Given the description of an element on the screen output the (x, y) to click on. 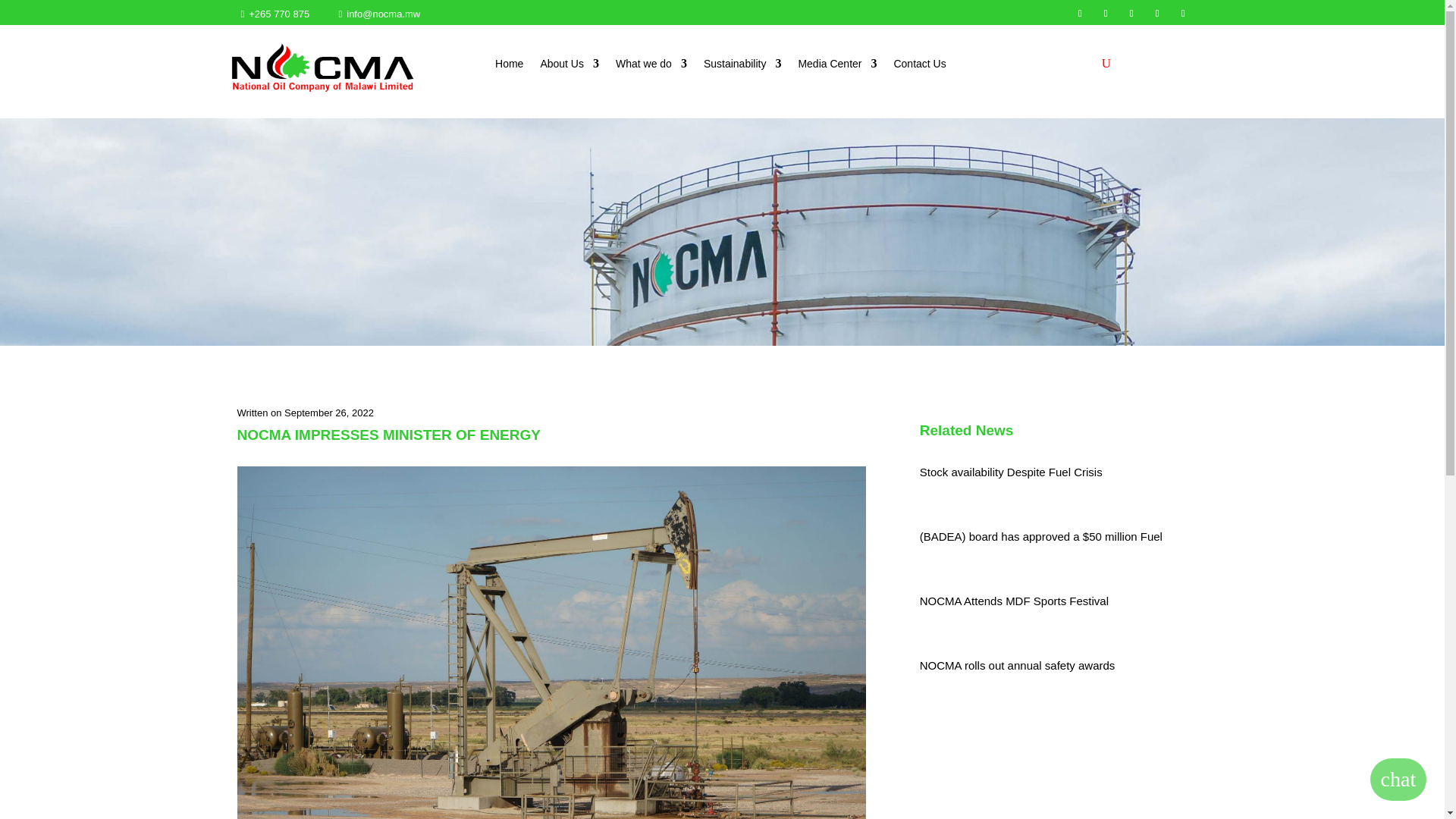
Sustainability (742, 66)
Follow on Facebook (1079, 13)
About Us (569, 66)
Media Center (836, 66)
Follow on Youtube (1182, 13)
What we do (651, 66)
Home (508, 66)
Follow on LinkedIn (1157, 13)
Follow on Instagram (1131, 13)
Follow on Twitter (1105, 13)
Contact Us (918, 66)
